Given the description of an element on the screen output the (x, y) to click on. 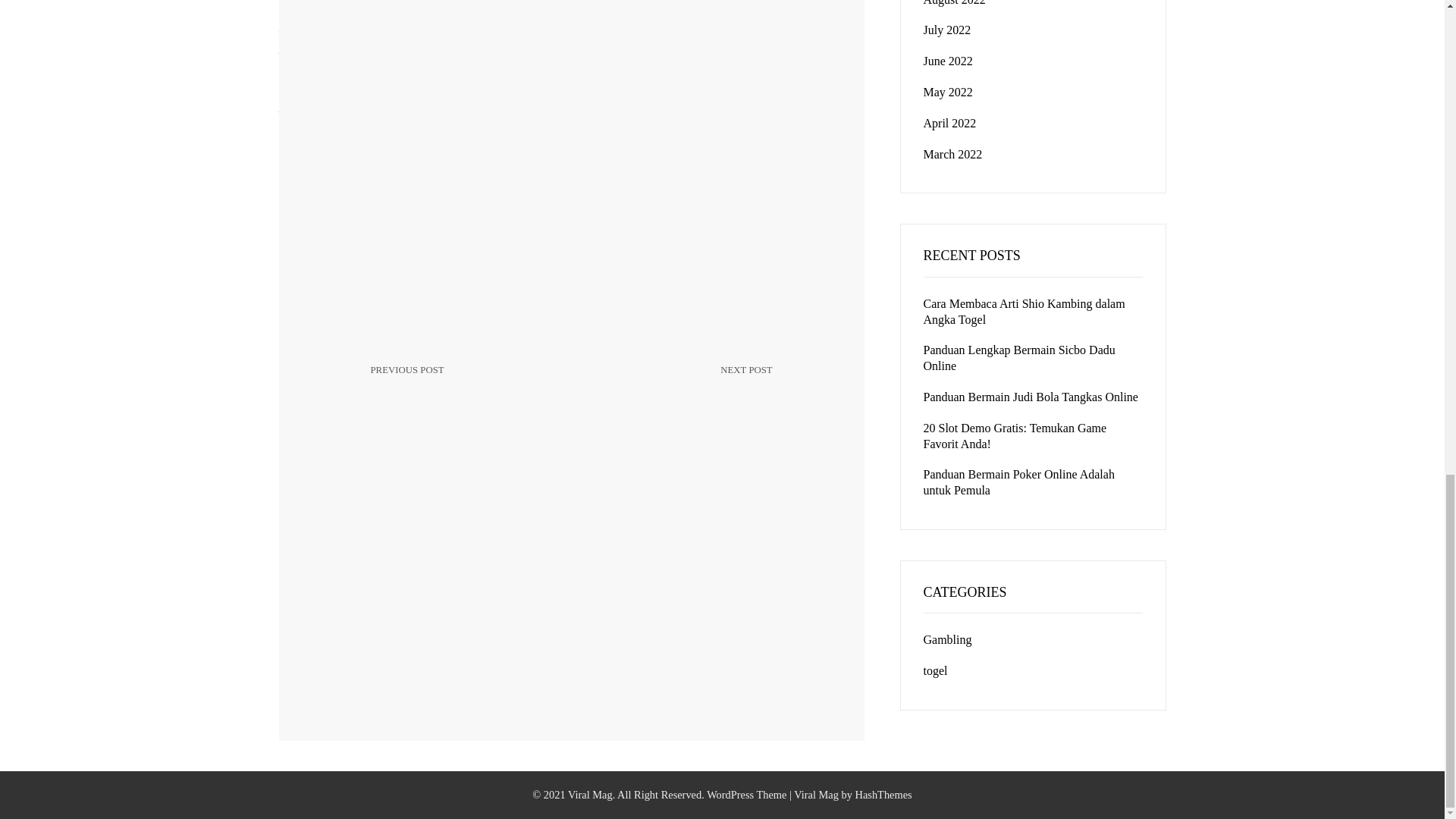
July 2022 (947, 29)
August 2022 (954, 2)
June 2022 (947, 60)
Download Viral News (462, 381)
